Given the description of an element on the screen output the (x, y) to click on. 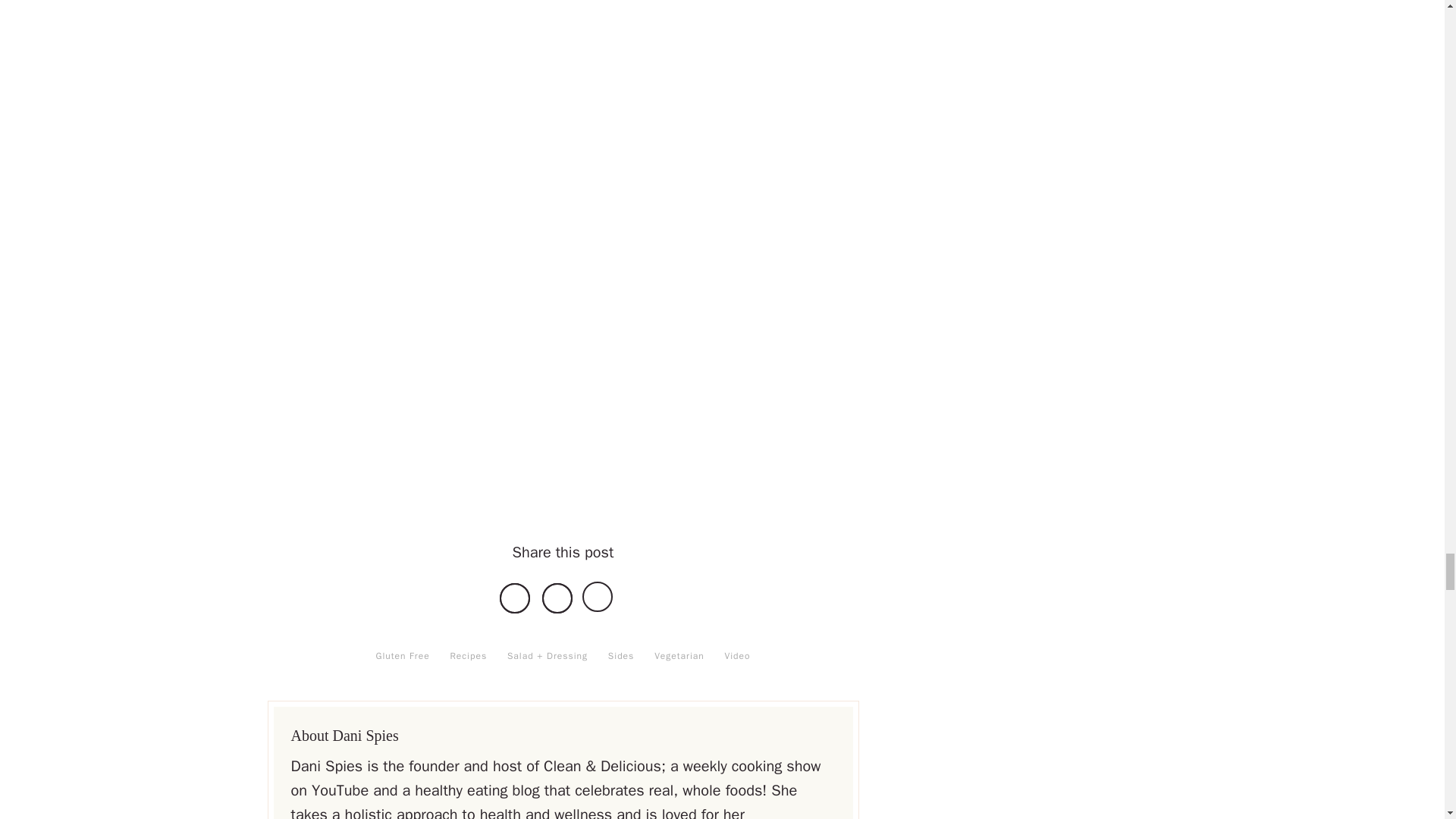
Share on X (556, 598)
Share on Facebook (514, 598)
Save to Pinterest (598, 598)
